Given the description of an element on the screen output the (x, y) to click on. 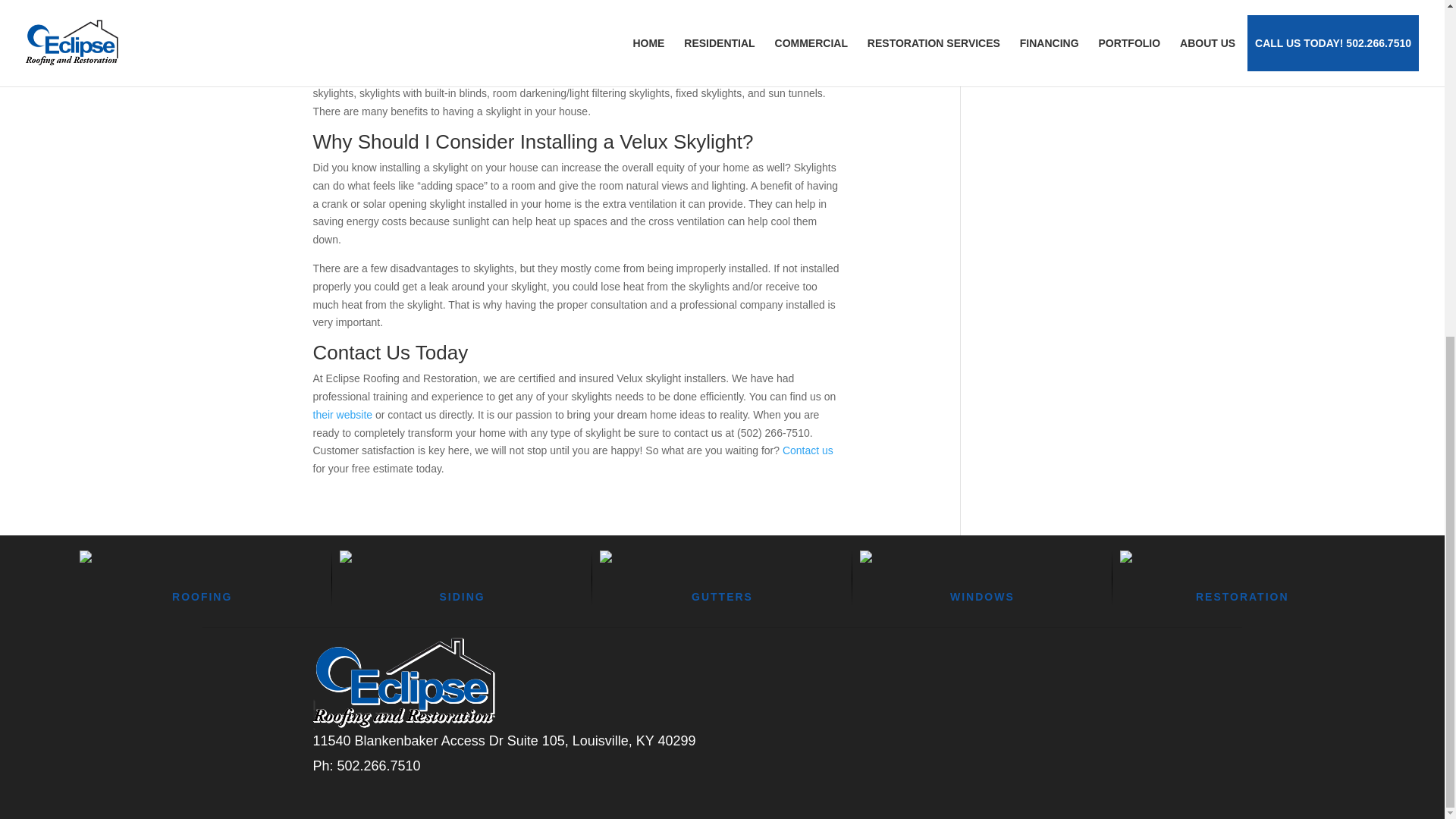
Contact us (807, 450)
their website (342, 414)
